Given the description of an element on the screen output the (x, y) to click on. 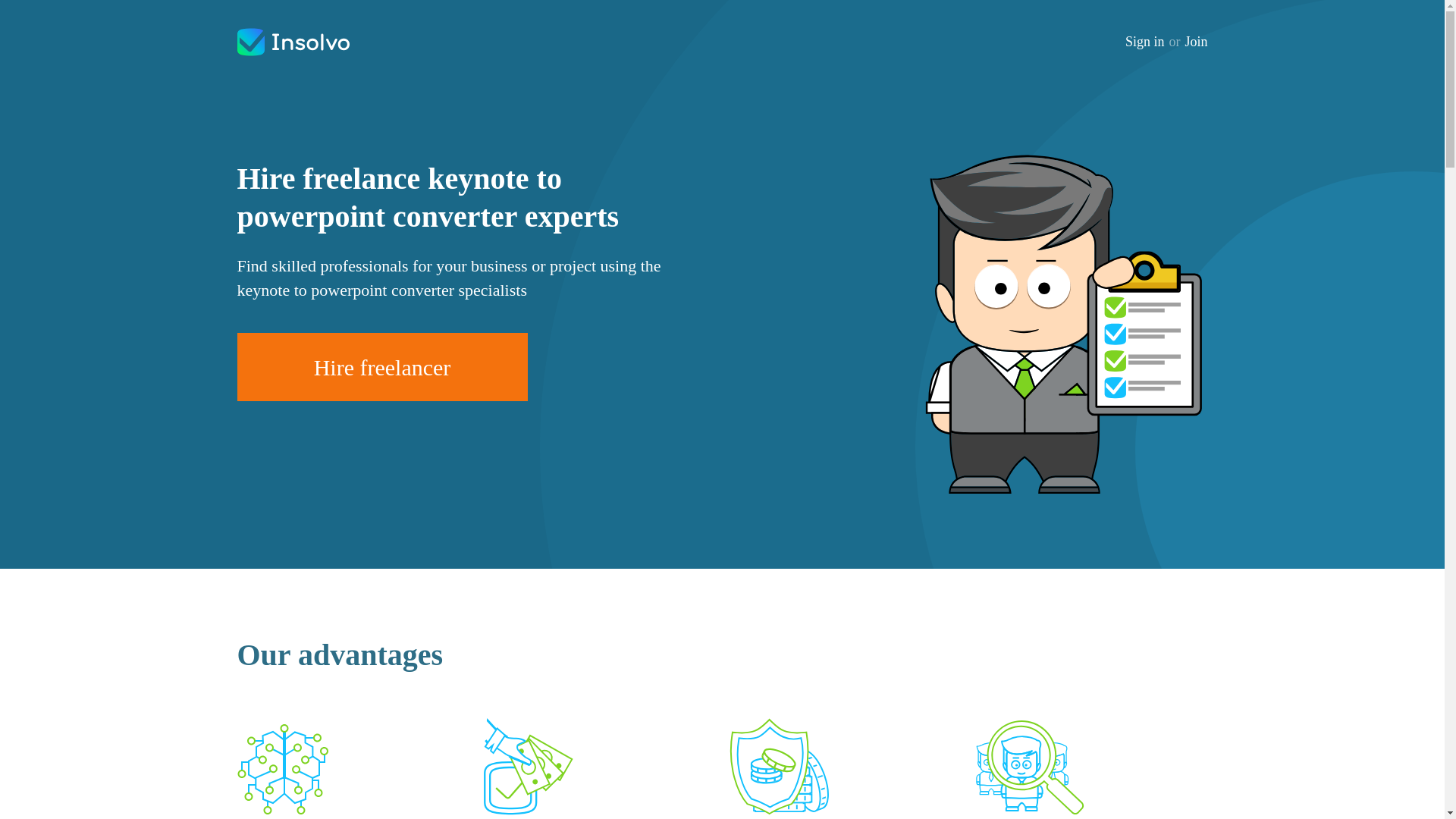
Hire freelancer (381, 366)
Sign in (1144, 42)
Join (1196, 42)
